Given the description of an element on the screen output the (x, y) to click on. 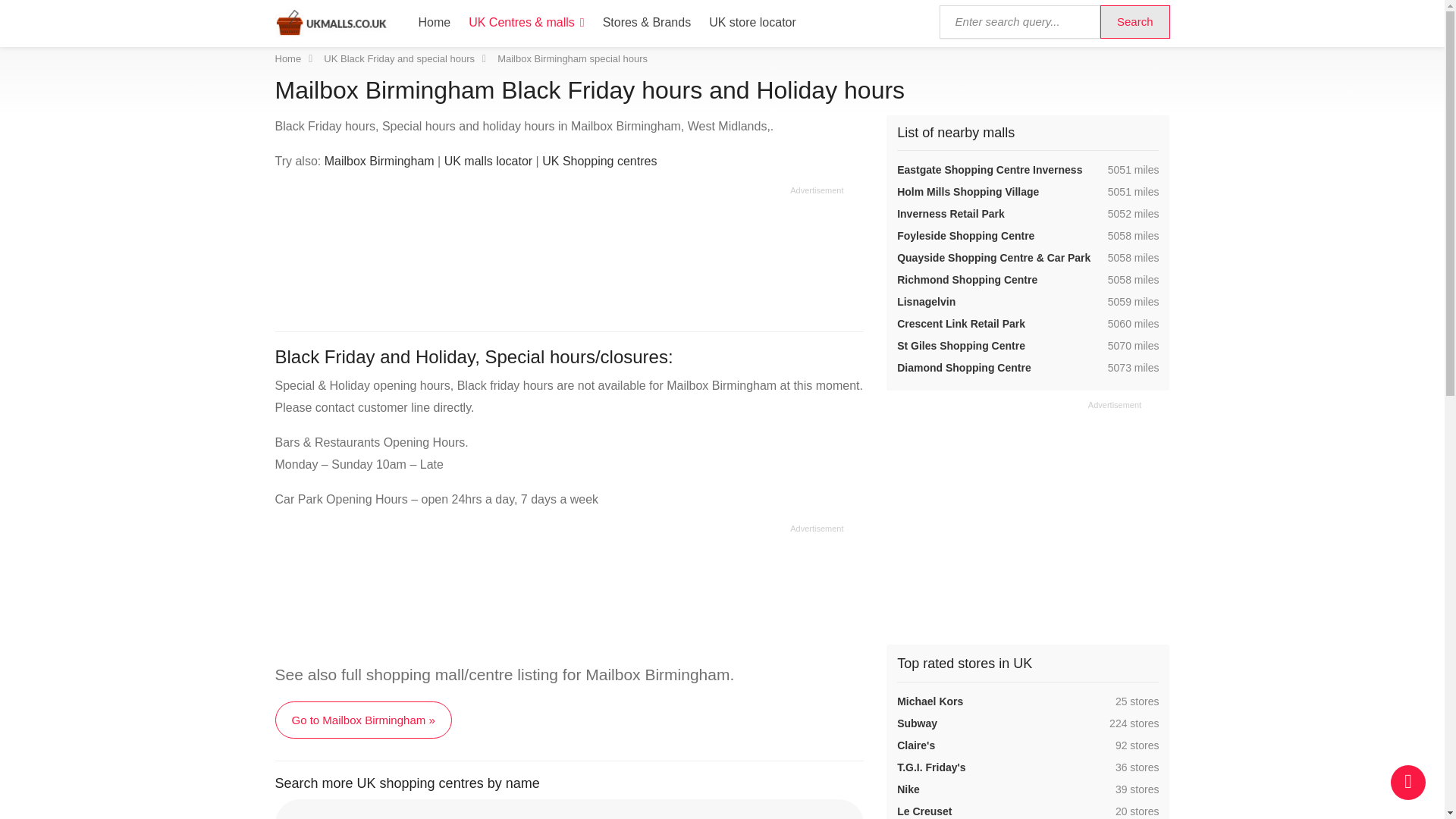
Advertisement (559, 253)
Richmond Shopping Centre (966, 279)
Crescent Link Retail Park (960, 323)
Mailbox Birmingham (378, 160)
Search (1135, 21)
Lisnagelvin (925, 301)
St Giles Shopping Centre (960, 345)
Nike (908, 788)
Inverness Retail Park (950, 214)
UK Black Friday and special hours (398, 58)
Claire's (915, 745)
Advertisement (559, 591)
Home (288, 58)
UK store locator (752, 22)
Michael Kors (929, 701)
